Given the description of an element on the screen output the (x, y) to click on. 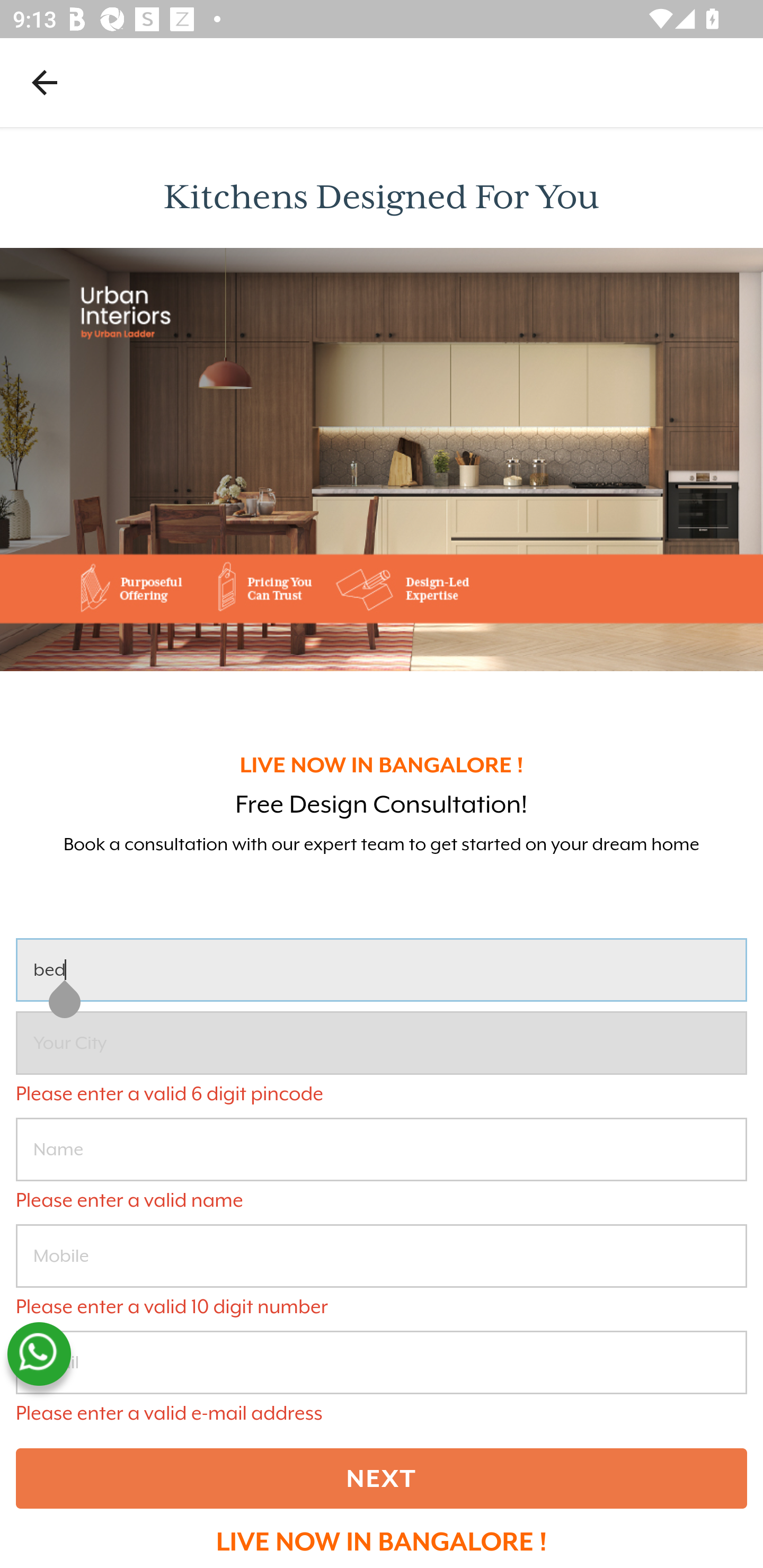
Navigate up (44, 82)
bed Next LIVE NOW IN BANGALORE ! (381, 1246)
bed (381, 970)
whatsapp (38, 1353)
Next (381, 1478)
